Given the description of an element on the screen output the (x, y) to click on. 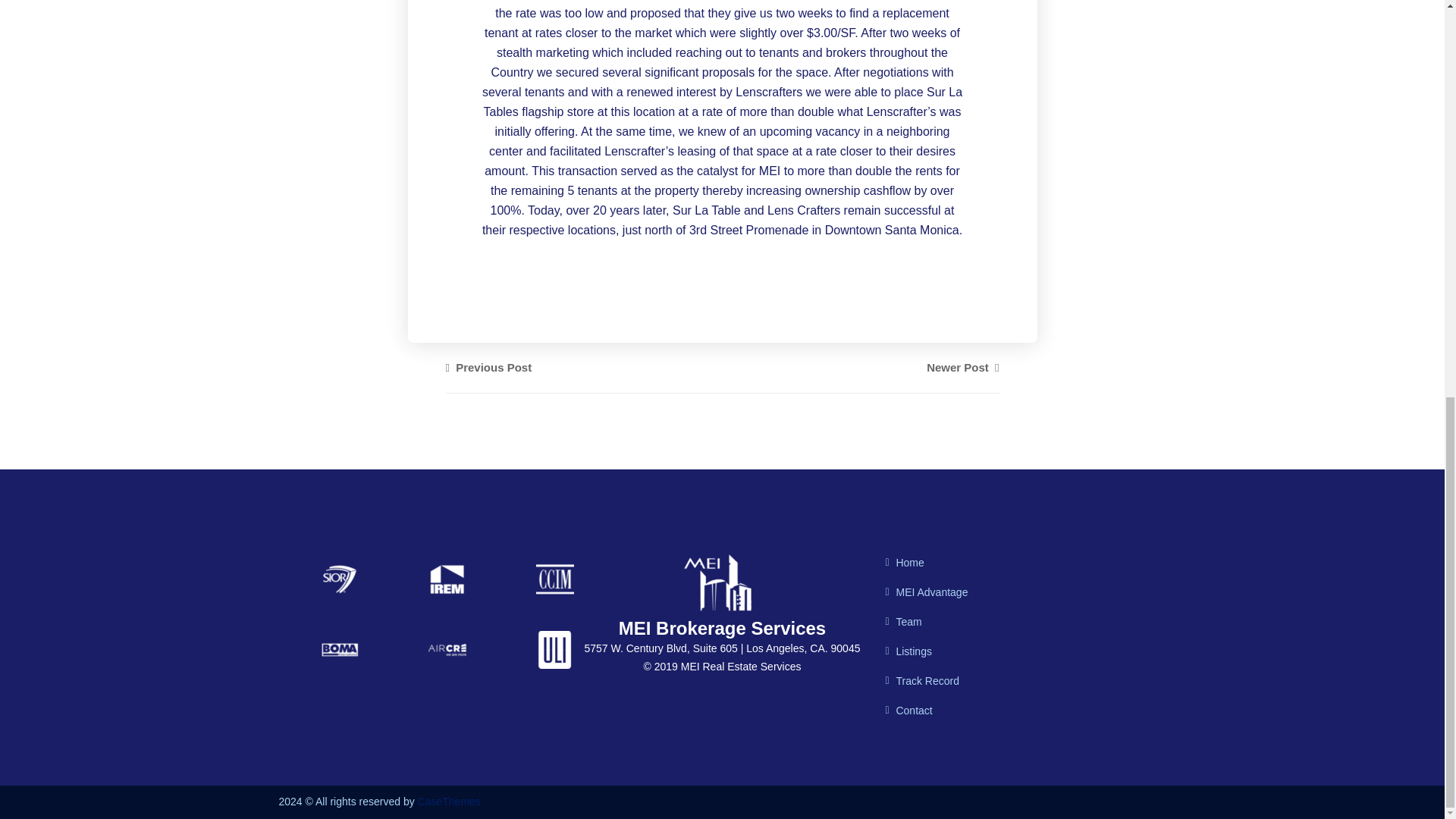
Previous Post (488, 367)
Team (903, 621)
Newer Post (962, 367)
boma-white-sized (339, 649)
CaseThemes (448, 801)
air-cre-white-250-250 (446, 649)
irem-logo-white (446, 579)
MEI Advantage (926, 592)
Track Record (922, 680)
Home (904, 562)
Listings (908, 651)
sior-white-resized (339, 579)
Contact (908, 710)
ccim-white-sized (554, 579)
uli (554, 649)
